Given the description of an element on the screen output the (x, y) to click on. 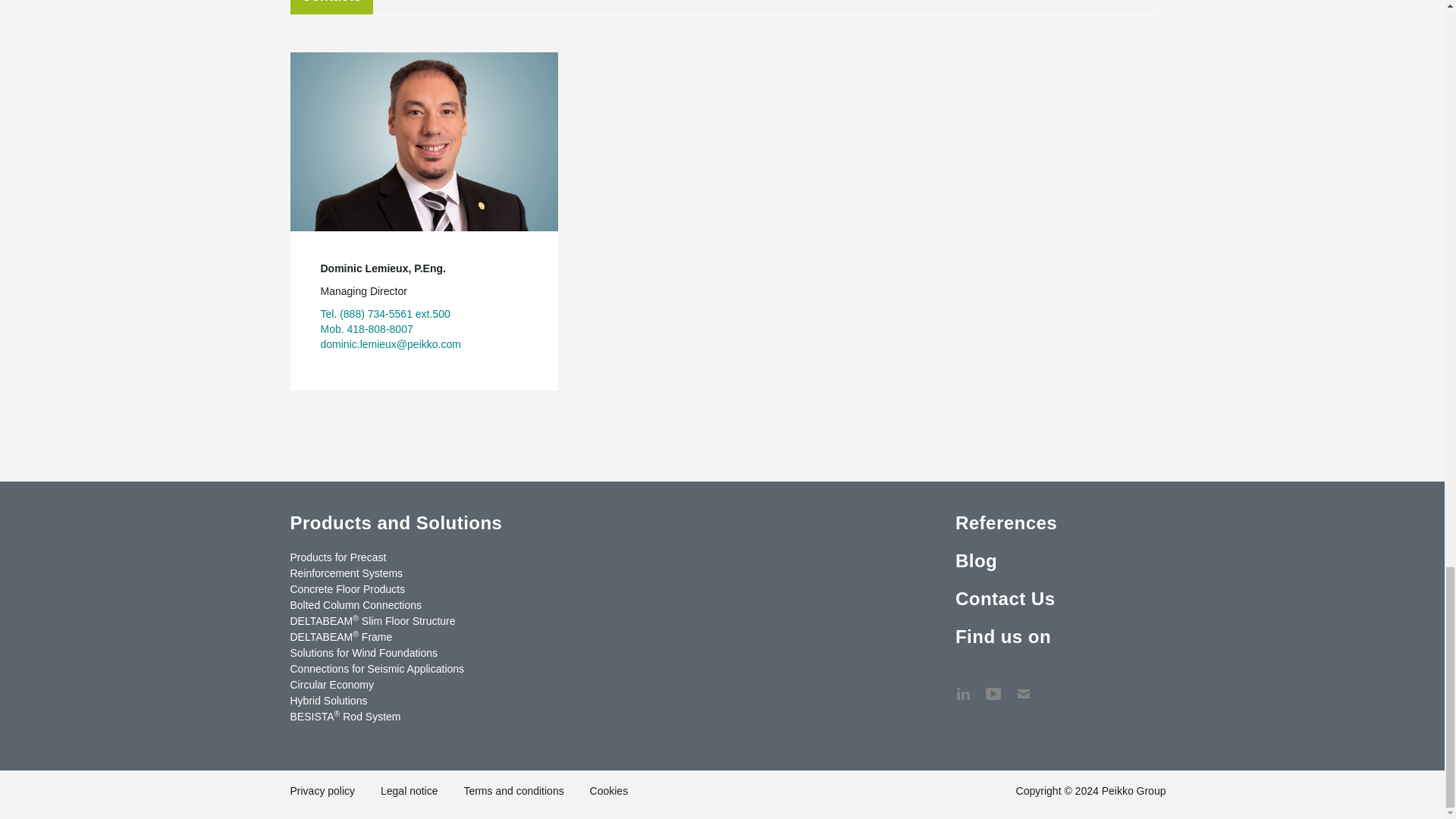
Contact Us (1023, 685)
LinkedIn (963, 685)
YouTube (993, 685)
